Given the description of an element on the screen output the (x, y) to click on. 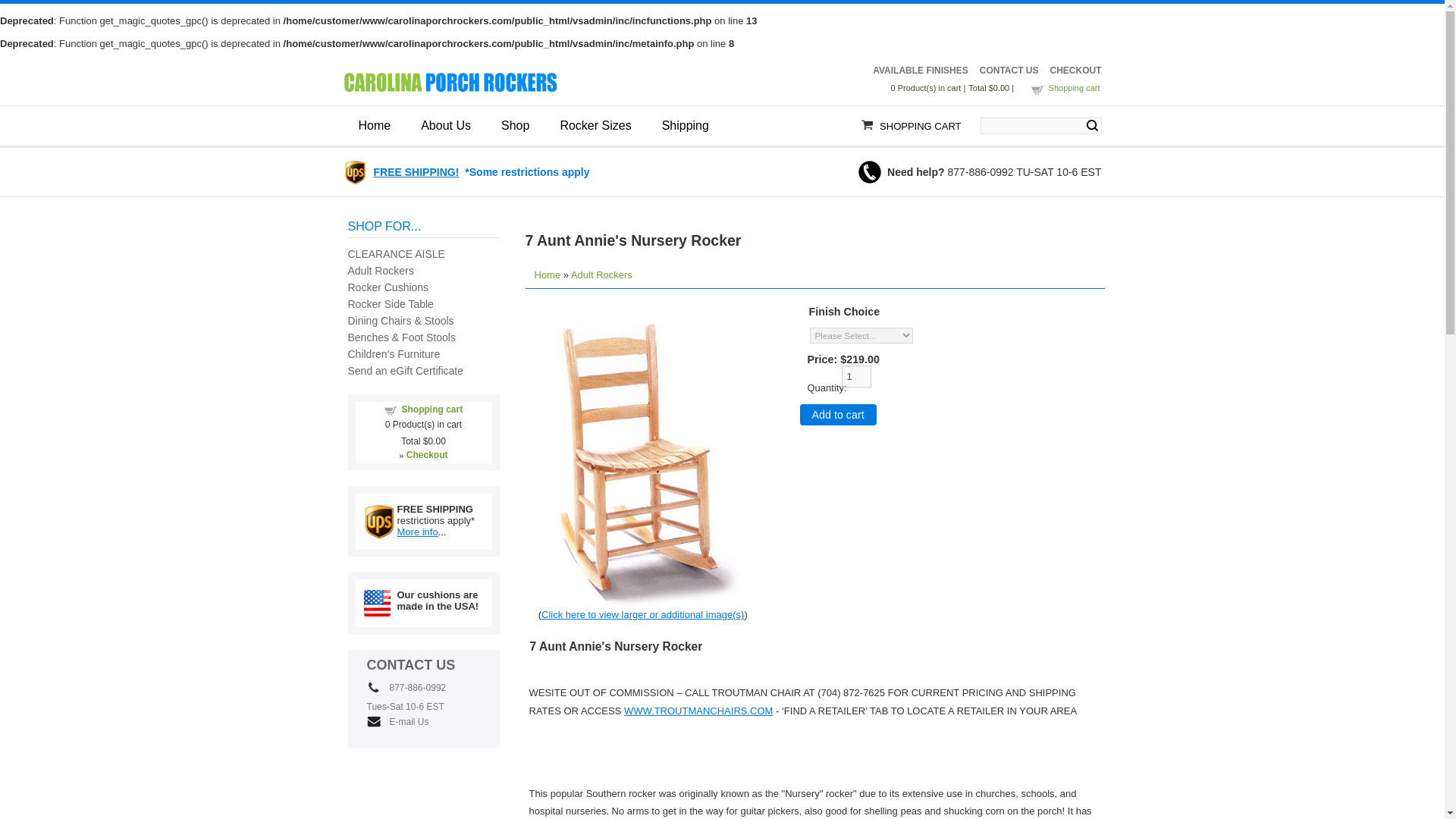
CHECKOUT (1074, 70)
AVAILABLE FINISHES (920, 70)
SHOPPING CART (919, 125)
CLEARANCE AISLE (395, 254)
Search (1092, 125)
Rocker Sizes (595, 125)
Shop (515, 125)
CONTACT US (1009, 70)
Quantity (855, 376)
Home (547, 274)
